Given the description of an element on the screen output the (x, y) to click on. 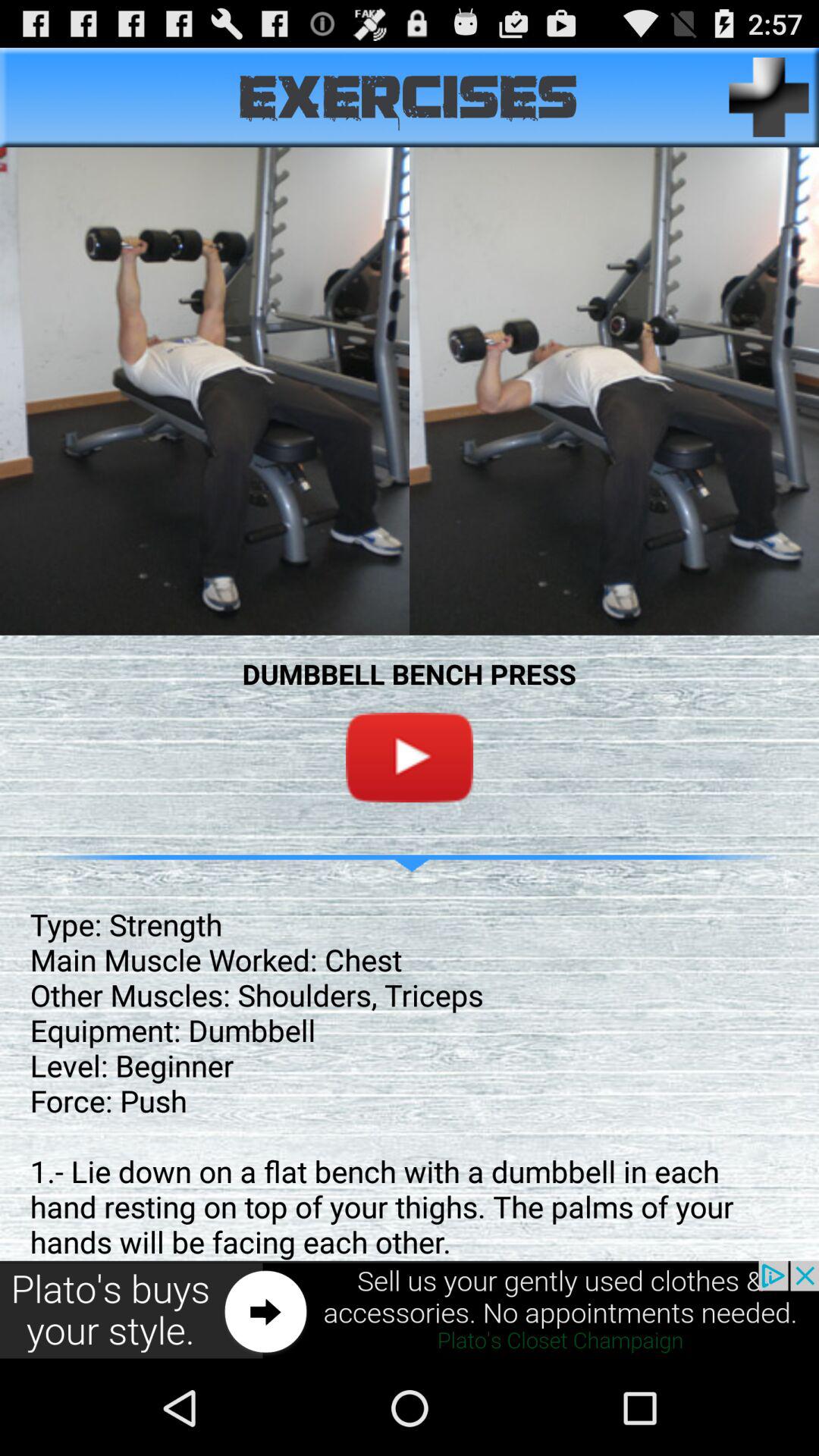
open advertisement (409, 1310)
